Given the description of an element on the screen output the (x, y) to click on. 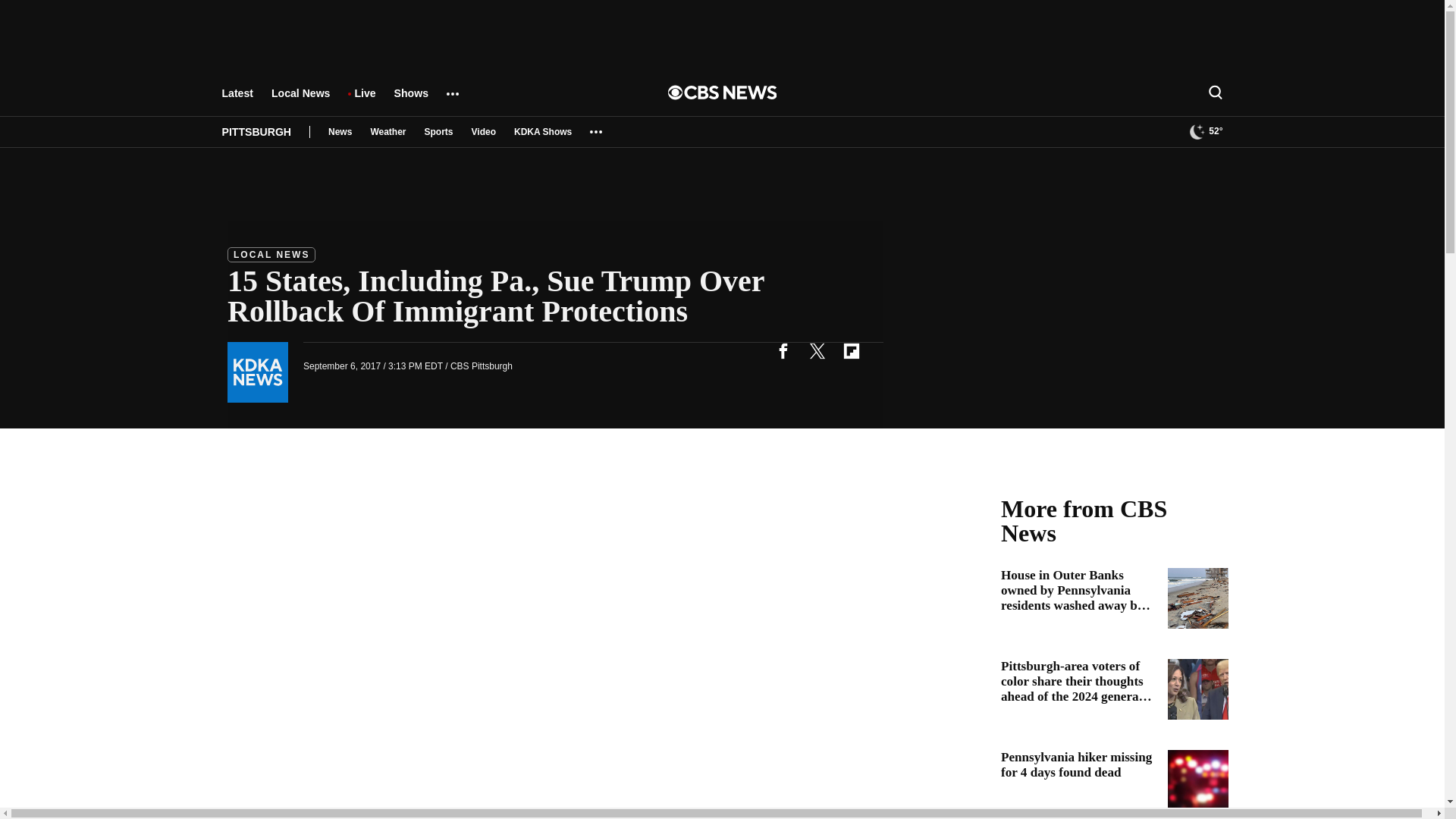
Local News (300, 100)
Latest (236, 100)
twitter (816, 350)
facebook (782, 350)
flipboard (850, 350)
